Given the description of an element on the screen output the (x, y) to click on. 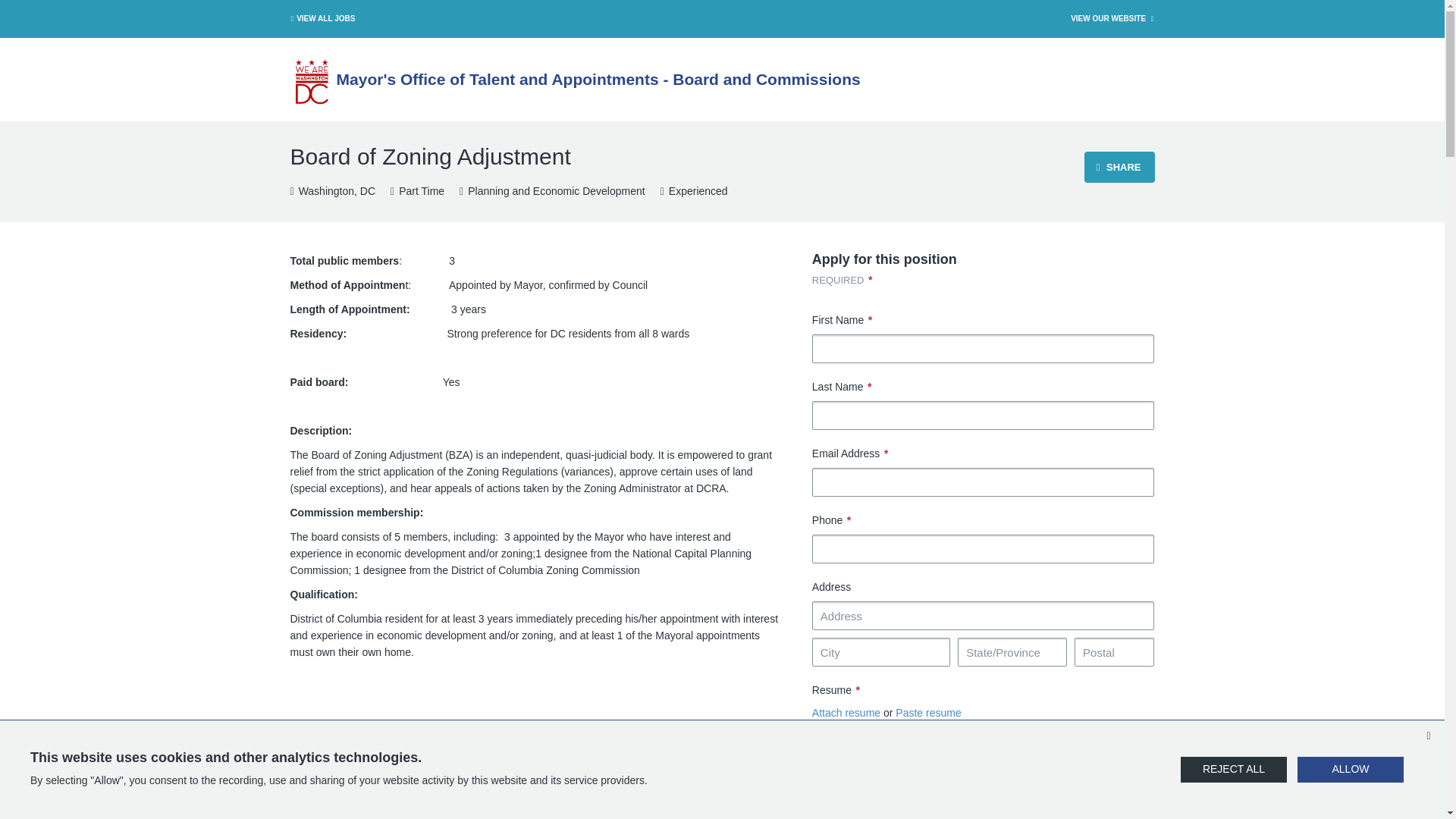
Type (417, 191)
ALLOW (1350, 769)
Attach resume (846, 712)
VIEW ALL JOBS (320, 18)
Paste resume (927, 712)
Department (552, 191)
REJECT ALL (1233, 769)
Experience (694, 191)
Location (332, 191)
VIEW OUR WEBSITE (1113, 18)
